Given the description of an element on the screen output the (x, y) to click on. 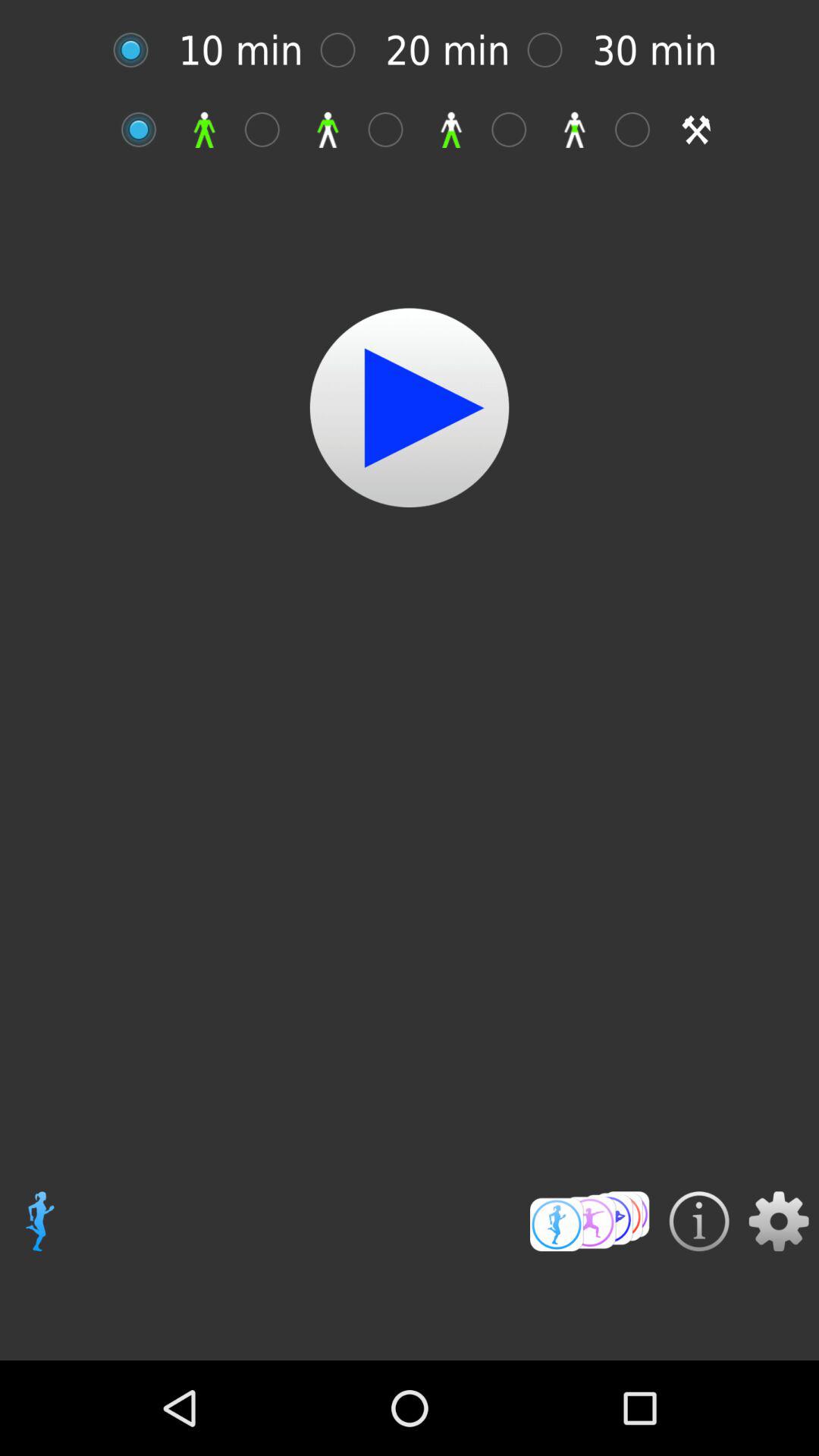
select 20 mins (345, 49)
